Given the description of an element on the screen output the (x, y) to click on. 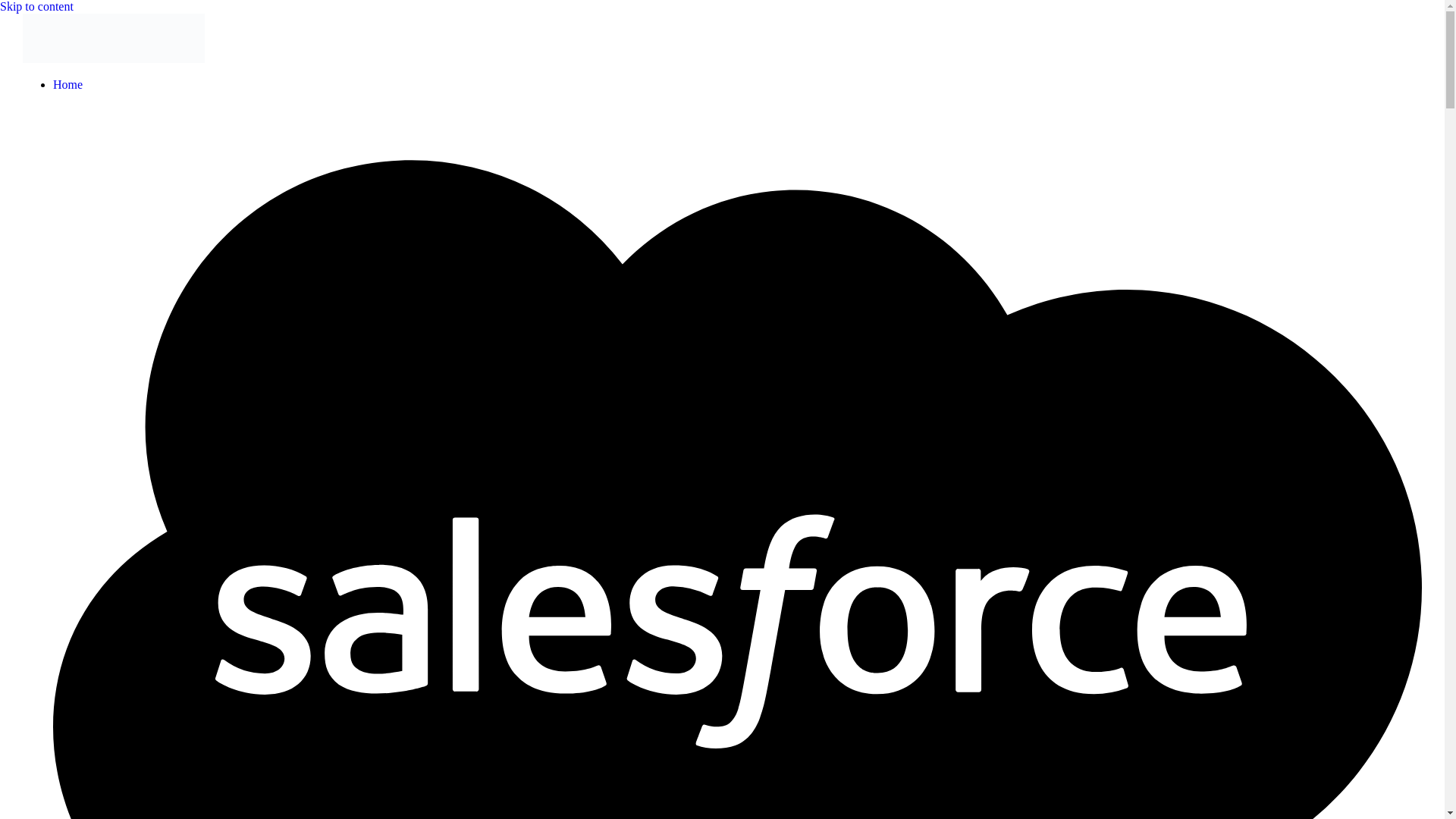
Skip to content (37, 6)
Home (67, 83)
Skip to content (37, 6)
